Given the description of an element on the screen output the (x, y) to click on. 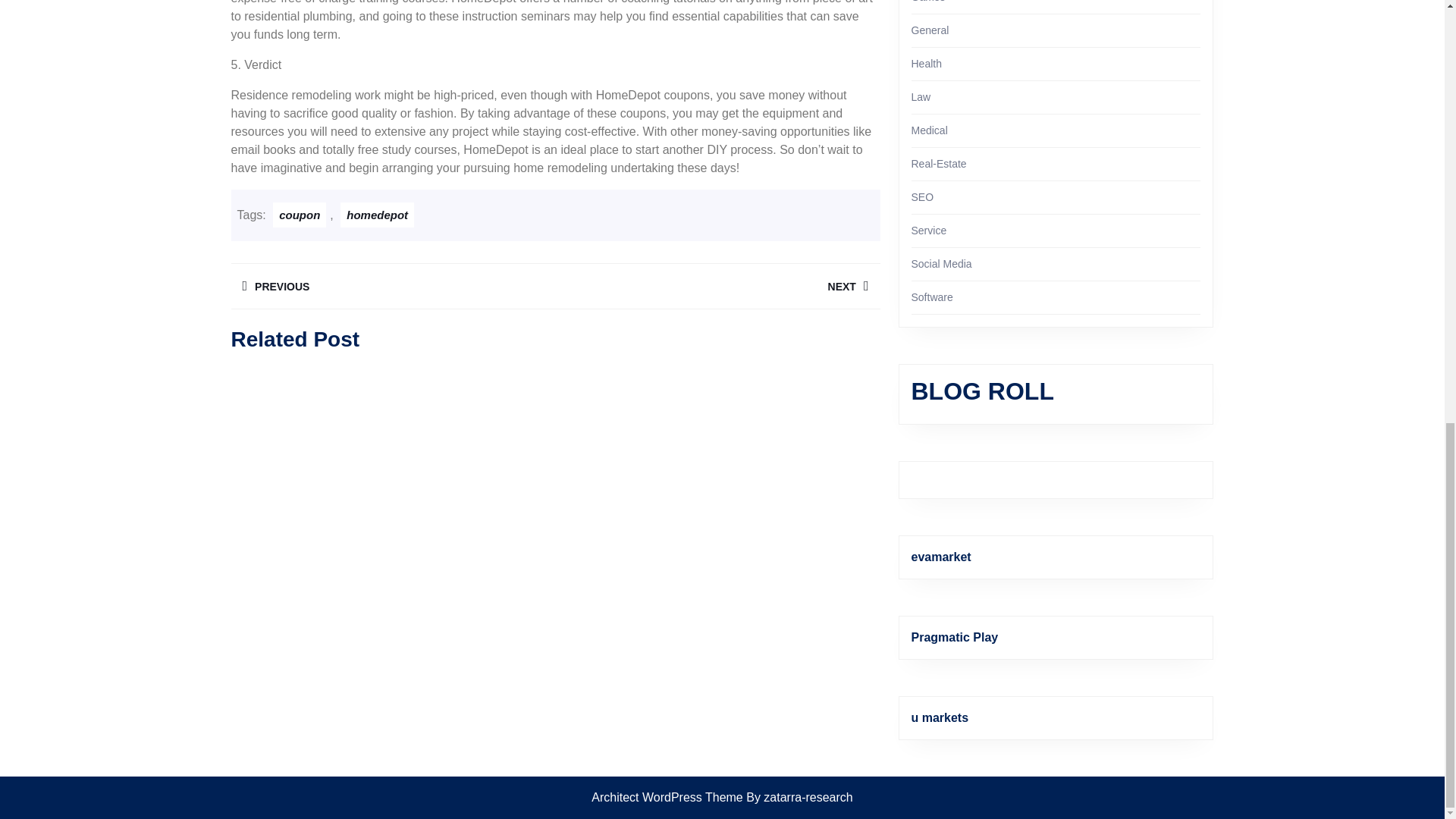
Law (921, 96)
General (716, 285)
Health (930, 30)
coupon (926, 63)
Medical (299, 214)
homedepot (929, 130)
Games (376, 214)
